Given the description of an element on the screen output the (x, y) to click on. 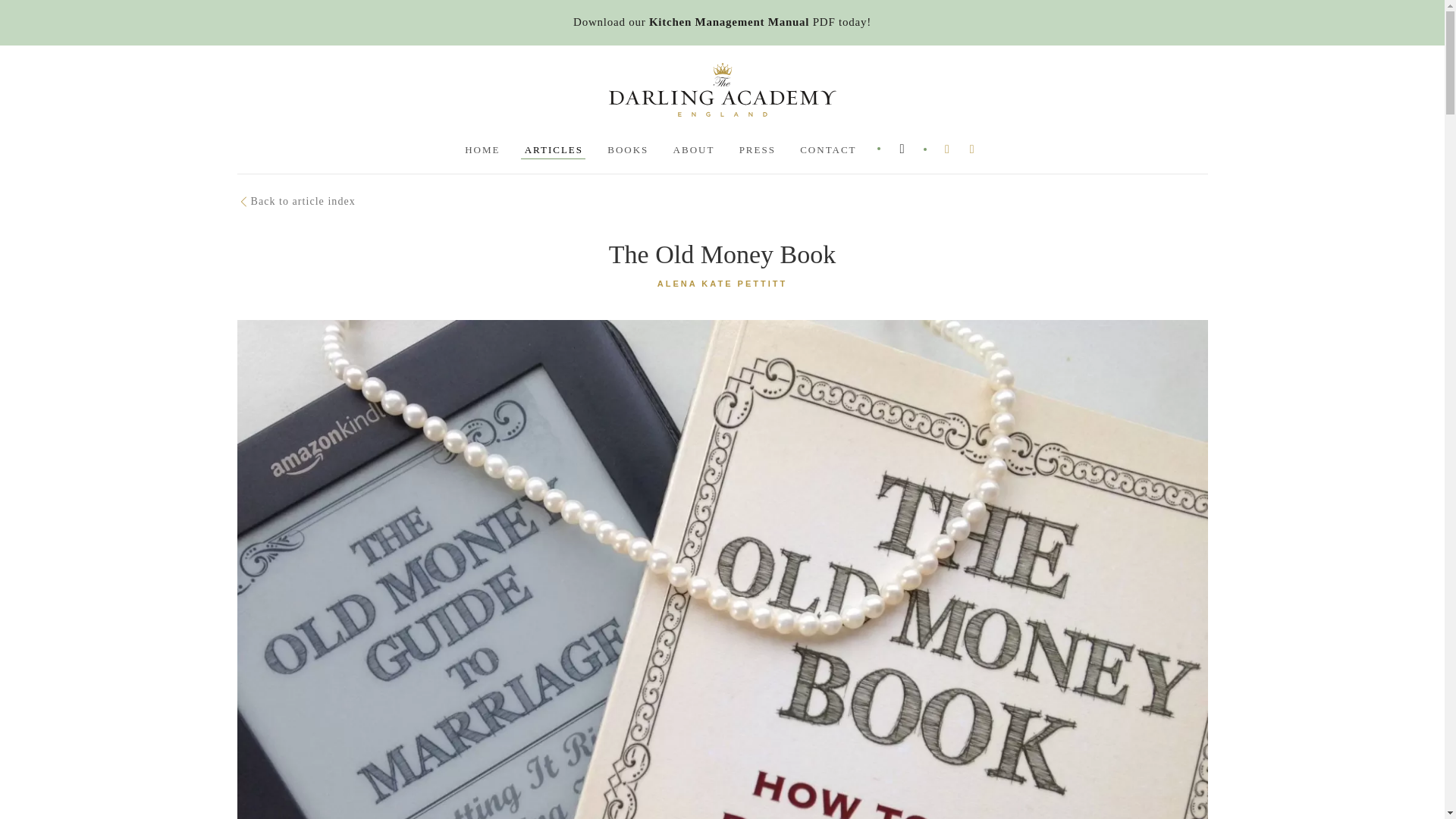
Articles (553, 148)
Search (958, 173)
ARTICLES (553, 148)
Back to article index (295, 201)
Contact (827, 148)
Join us on Facebook (947, 149)
ABOUT (693, 148)
PRESS (756, 148)
CONTACT (827, 148)
Watch us on YouTube (971, 149)
